Given the description of an element on the screen output the (x, y) to click on. 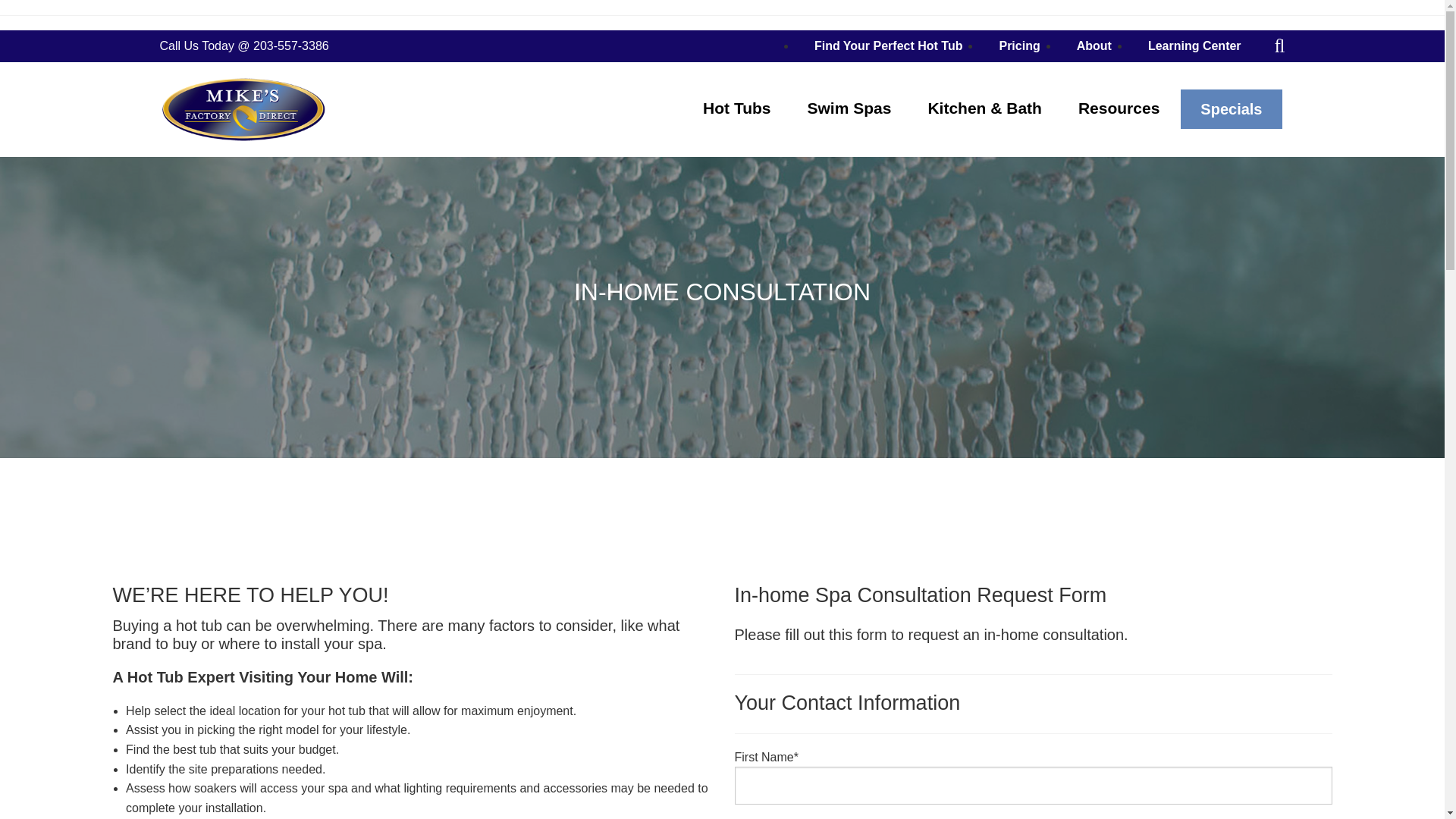
About (1093, 46)
Pricing (1018, 46)
Hot Tubs (736, 108)
Find Your Perfect Hot Tub (888, 46)
Learning Center (1194, 46)
